Given the description of an element on the screen output the (x, y) to click on. 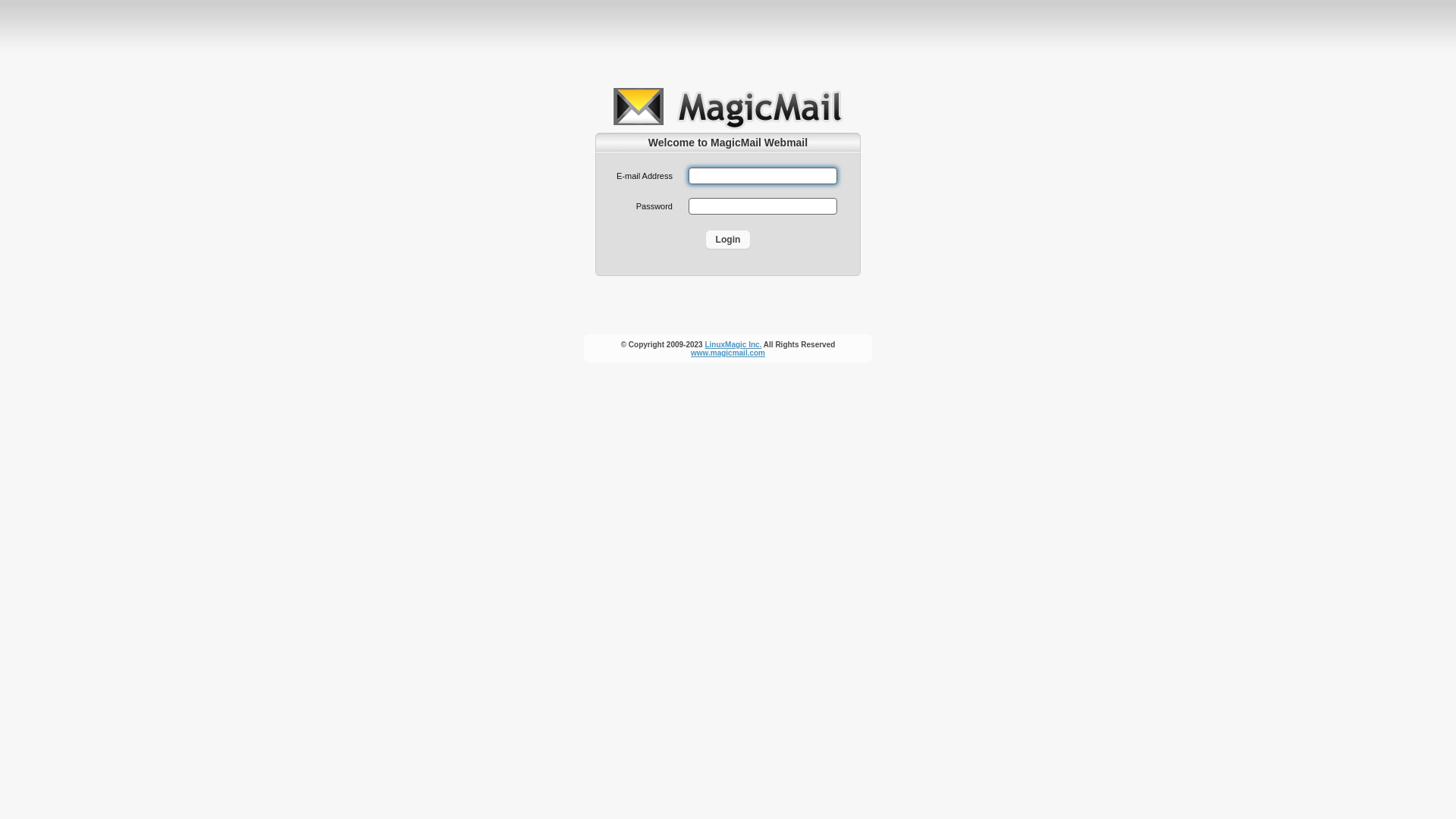
www.magicmail.com Element type: text (727, 352)
LinuxMagic Inc. Element type: text (732, 344)
Login Element type: text (728, 239)
